Given the description of an element on the screen output the (x, y) to click on. 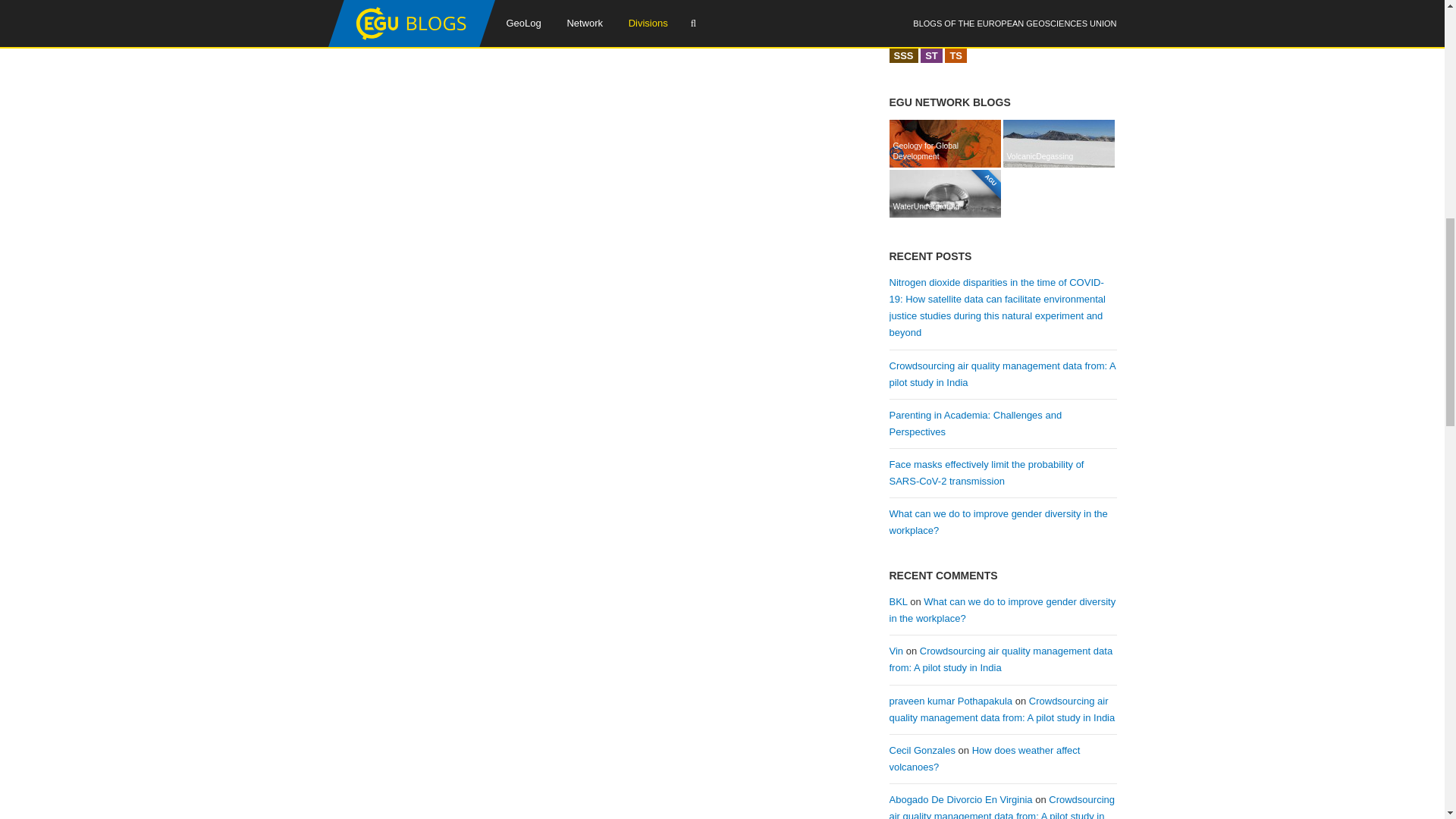
Hydrological Sciences (941, 35)
Geomorphology (1085, 16)
Cryospheric Sciences (978, 16)
Natural Hazards (966, 35)
Biogeosciences (926, 16)
Atmospheric Sciences (899, 16)
Ocean Sciences (1018, 35)
Planetary and Solar System Sciences (1044, 35)
Earth and Space Science Informatics (1008, 16)
Geodynamics (1058, 16)
Geodesy (1034, 16)
Nonlinear Processes in Geosciences (992, 35)
